Given the description of an element on the screen output the (x, y) to click on. 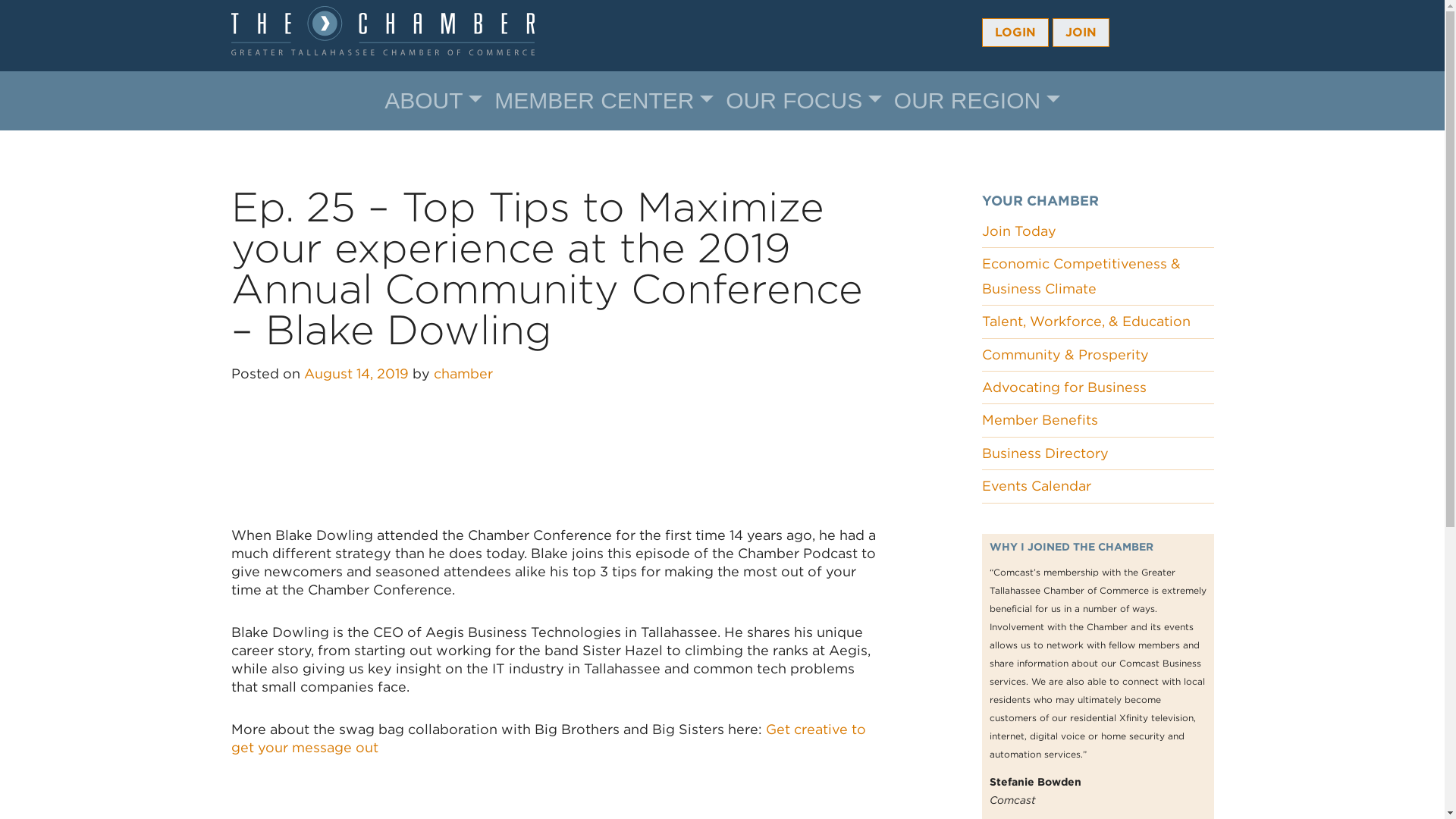
LOGIN (1014, 32)
JOIN (1080, 32)
MEMBER CENTER (603, 100)
About (432, 100)
ABOUT (432, 100)
Member Center (603, 100)
